Given the description of an element on the screen output the (x, y) to click on. 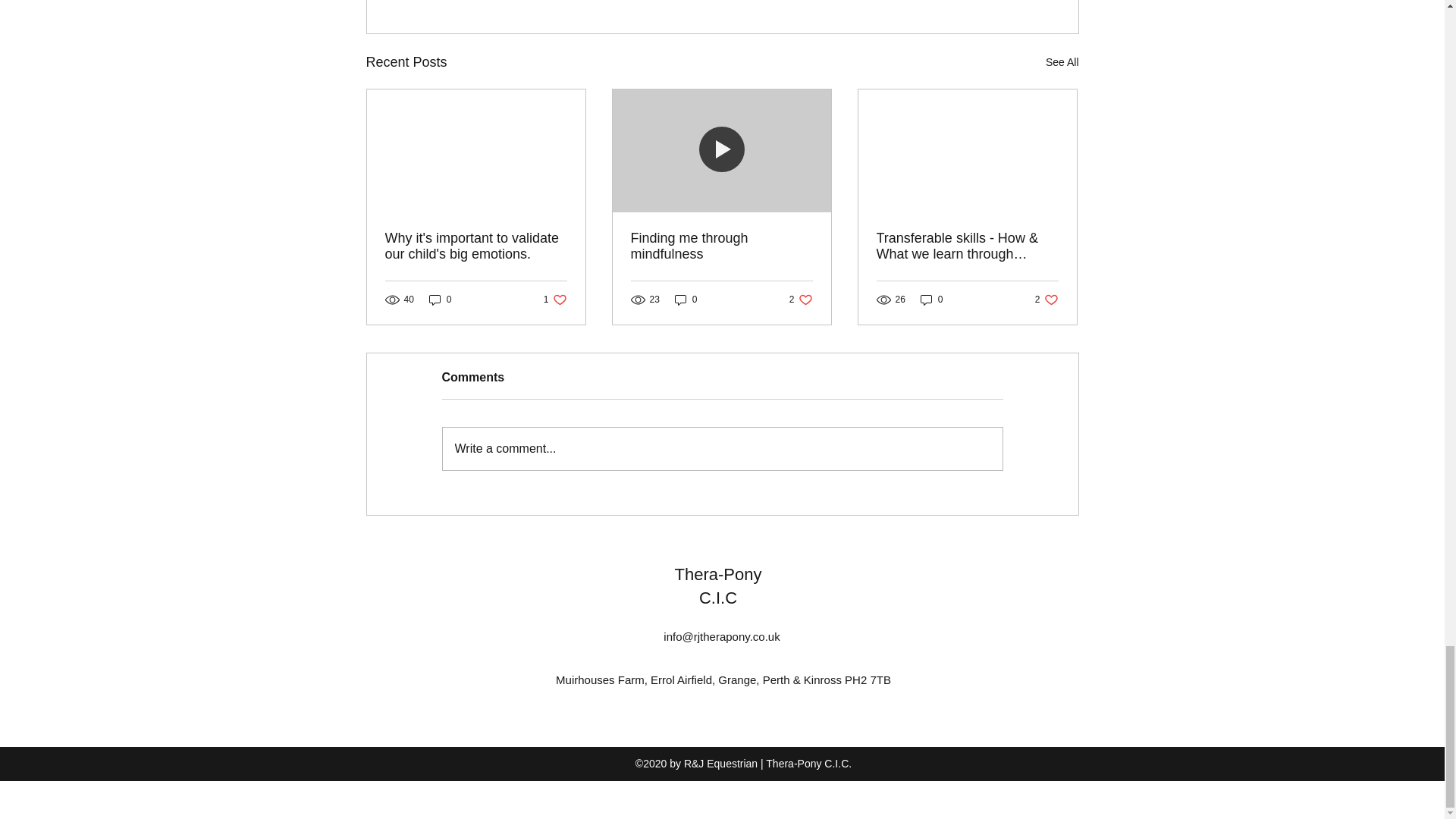
Why it's important to validate our child's big emotions. (800, 299)
See All (476, 246)
Finding me through mindfulness (1061, 62)
0 (721, 246)
0 (685, 299)
